Given the description of an element on the screen output the (x, y) to click on. 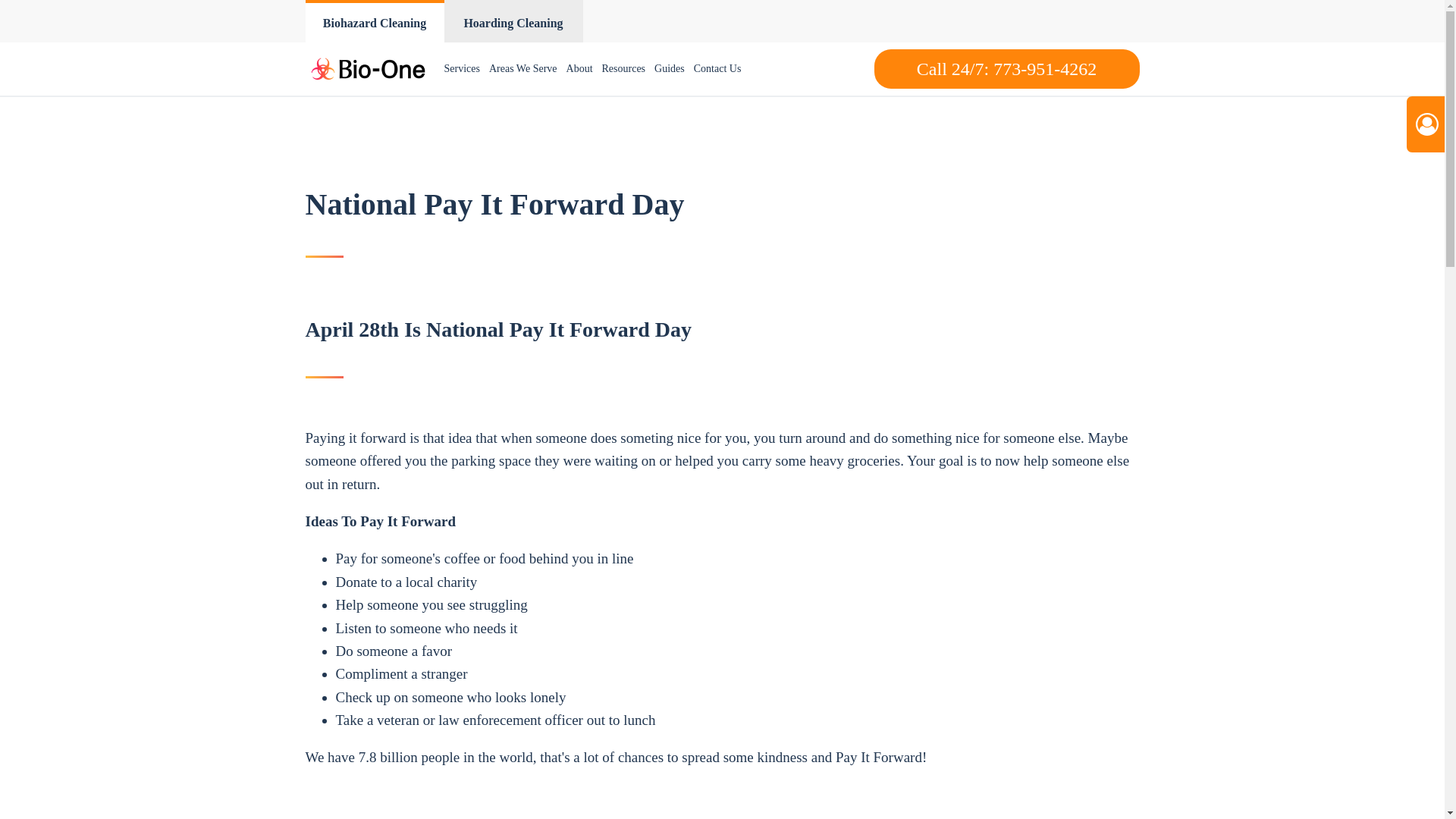
Resources (623, 68)
Contact Us (716, 68)
Biohazard Cleaning (374, 21)
Services (461, 68)
Hoarding Cleaning (513, 21)
Areas We Serve (523, 68)
